Given the description of an element on the screen output the (x, y) to click on. 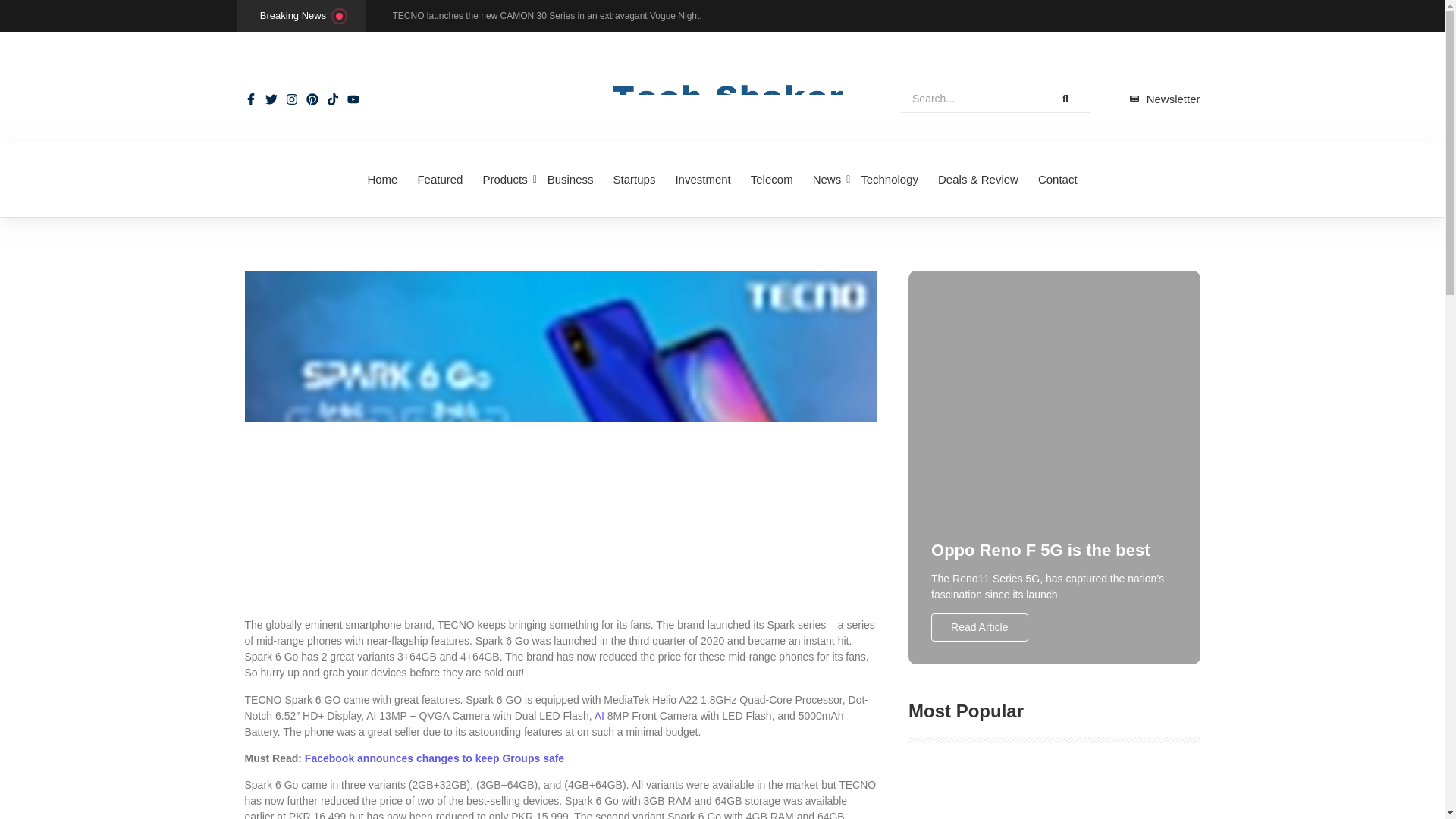
Products (504, 179)
Search (971, 99)
Featured (439, 179)
Home (382, 179)
Newsletter (1164, 99)
